Given the description of an element on the screen output the (x, y) to click on. 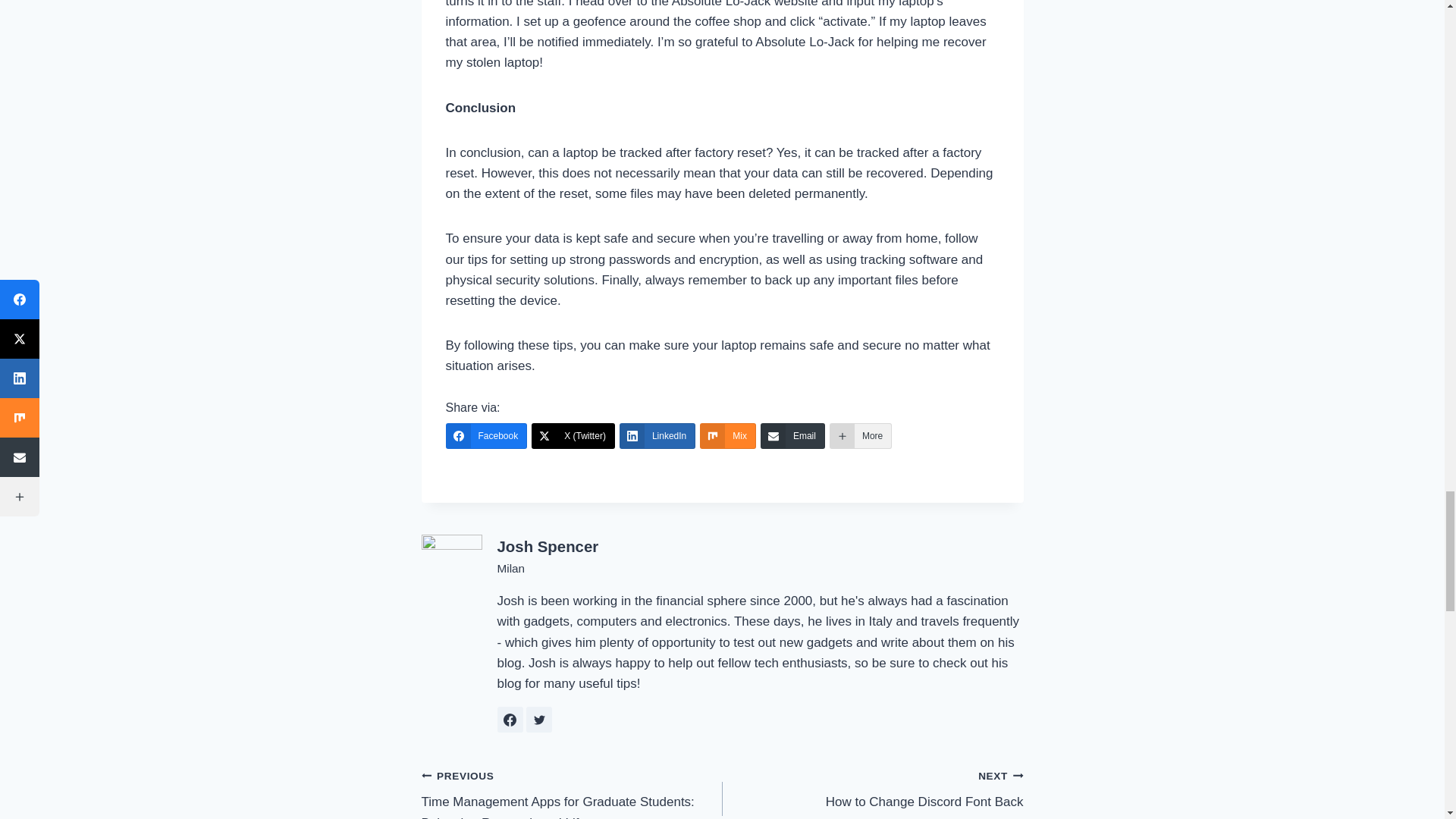
Follow Josh Spencer on Twitter (538, 719)
Mix (727, 435)
Email (792, 435)
More (860, 435)
LinkedIn (657, 435)
Facebook (486, 435)
Follow Josh Spencer on Facebook (509, 719)
Posts by Josh Spencer (547, 546)
